Given the description of an element on the screen output the (x, y) to click on. 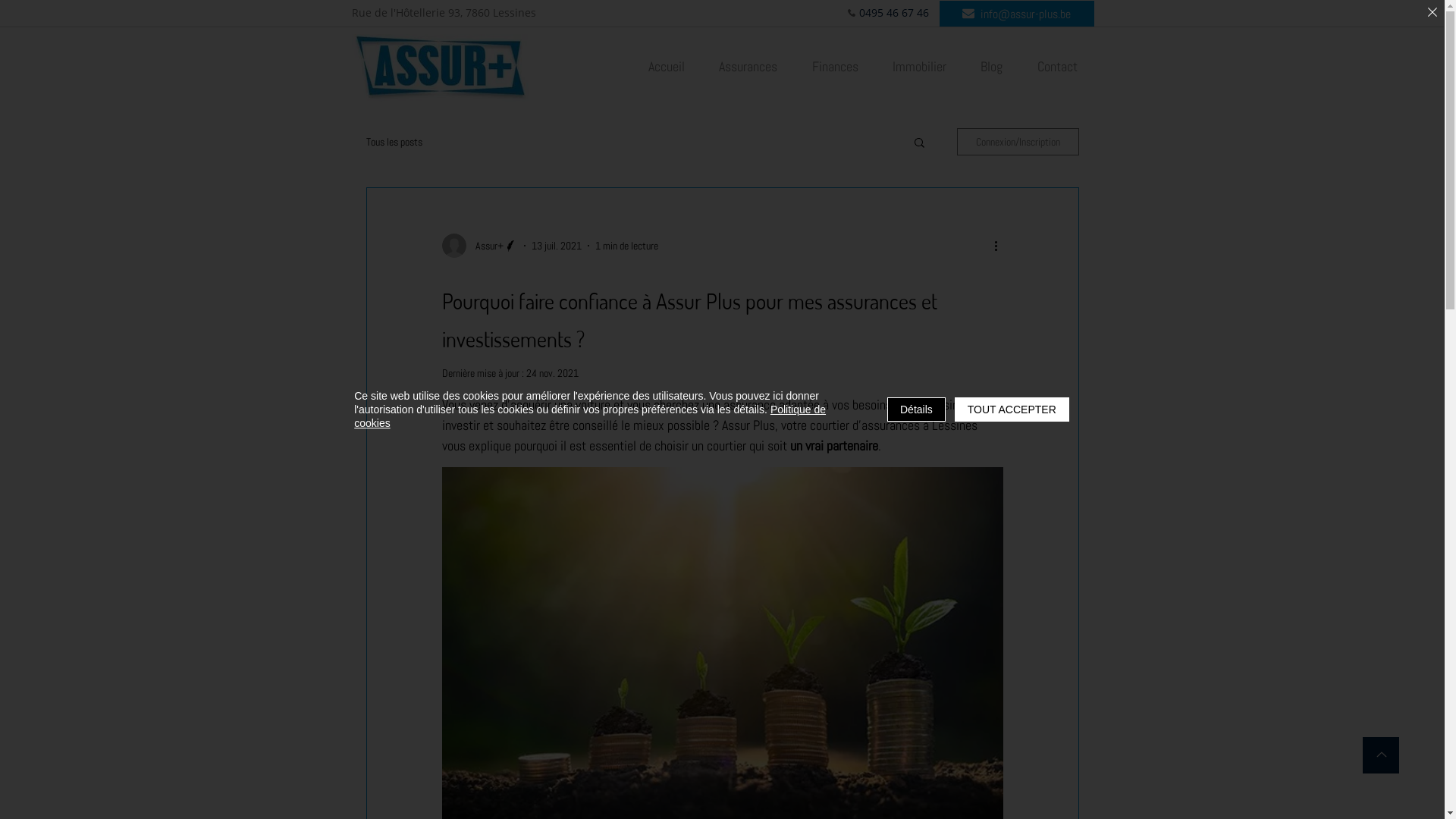
Connexion/Inscription Element type: text (1018, 141)
Accueil Element type: text (666, 67)
Assur Plus Element type: hover (440, 68)
Finances Element type: text (834, 67)
Immobilier Element type: text (918, 67)
Politique de cookies Element type: text (589, 416)
0495 46 67 46 Element type: text (887, 12)
info@assur-plus.be Element type: text (1015, 13)
Contact Element type: text (1056, 67)
Blog Element type: text (991, 67)
TOUT ACCEPTER Element type: text (1011, 409)
Tous les posts Element type: text (393, 141)
Assurances Element type: text (747, 67)
